Given the description of an element on the screen output the (x, y) to click on. 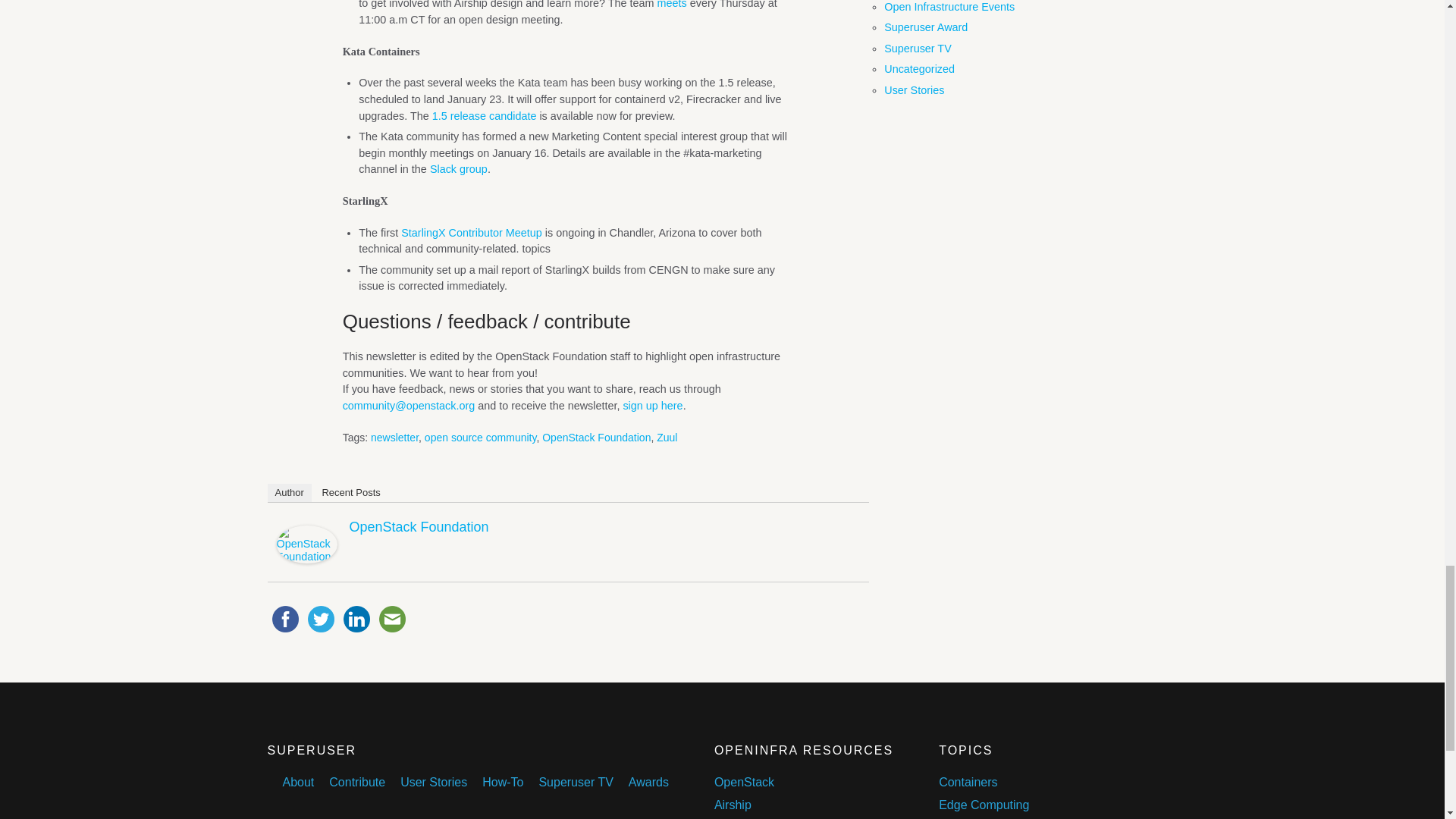
email (392, 619)
OpenStack Foundation (306, 559)
twitter (320, 619)
facebook (284, 619)
linkedin (355, 619)
